Given the description of an element on the screen output the (x, y) to click on. 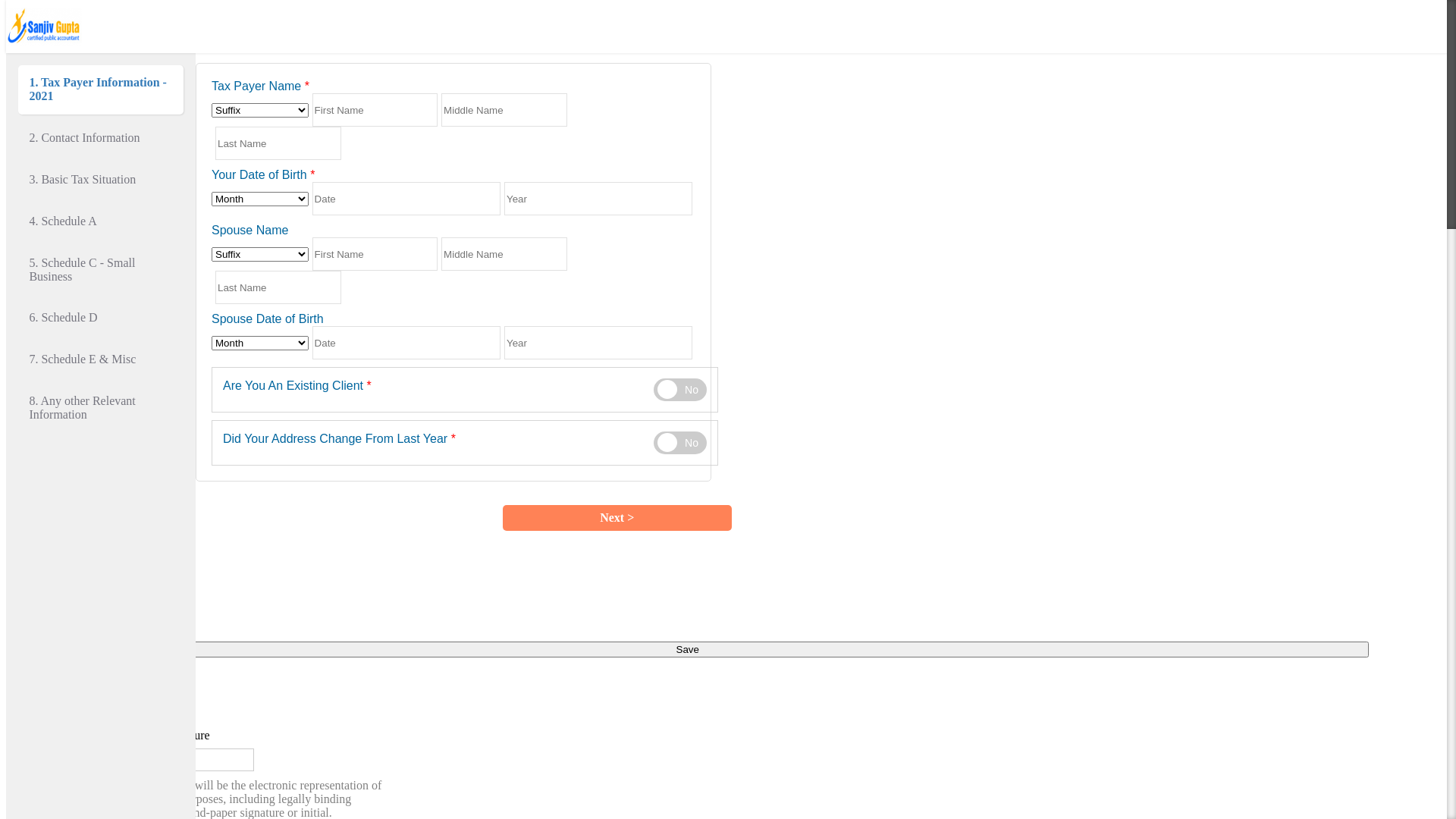
1. Tax Payer Information - 2021 Element type: text (100, 89)
Next > Element type: text (616, 517)
5. Schedule C - Small Business Element type: text (100, 269)
7. Schedule E & Misc Element type: text (100, 359)
Save Element type: text (687, 649)
8. Any other Relevant Information Element type: text (100, 407)
4. Schedule A Element type: text (100, 220)
2. Contact Information Element type: text (100, 138)
3. Basic Tax Situation Element type: text (100, 179)
6. Schedule D Element type: text (100, 317)
